Given the description of an element on the screen output the (x, y) to click on. 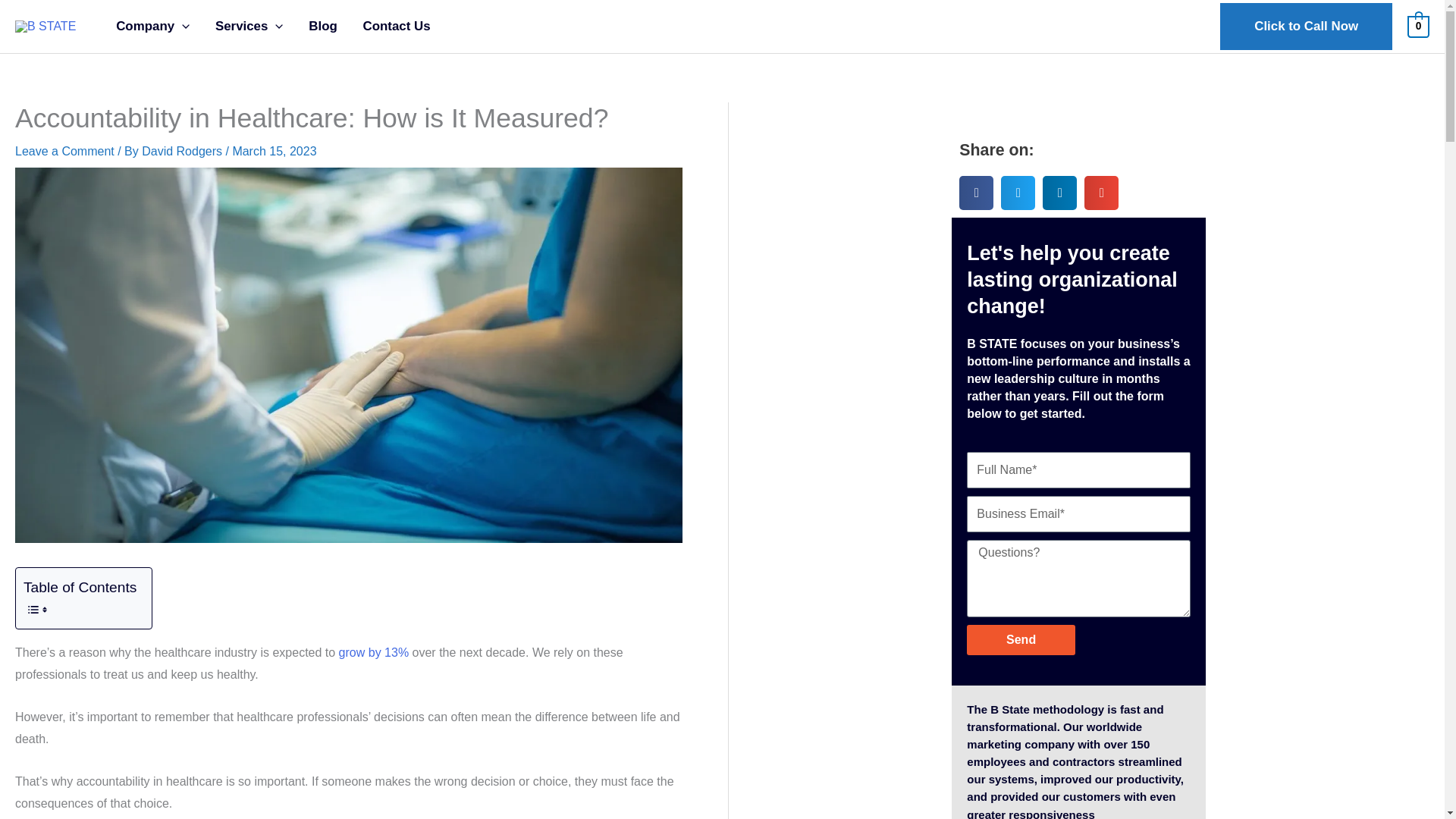
0 (1418, 25)
Contact Us (397, 26)
Click to Call Now (1305, 26)
View all posts by David Rodgers (183, 151)
Blog (322, 26)
Company (152, 26)
Services (248, 26)
